Given the description of an element on the screen output the (x, y) to click on. 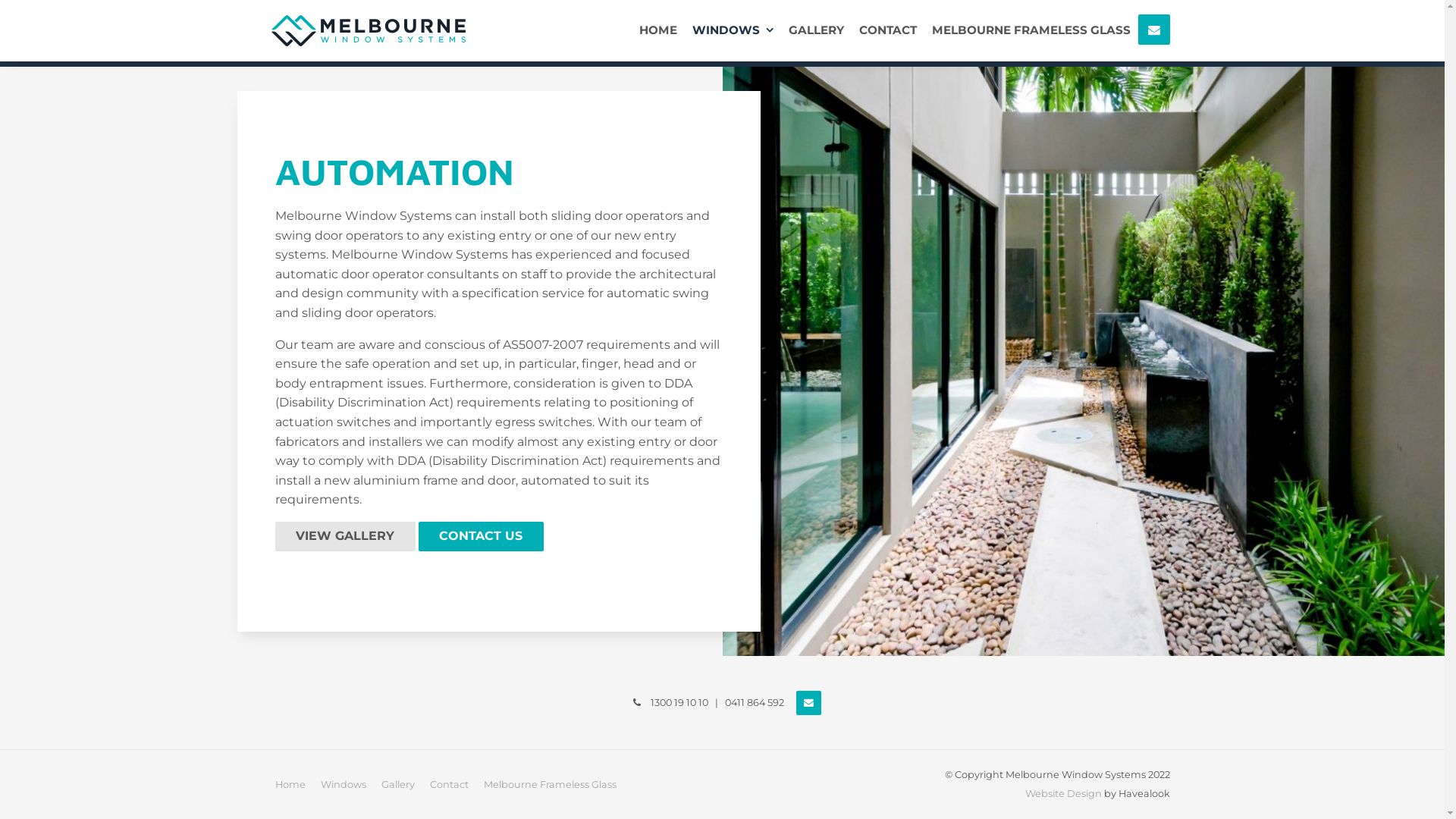
CONTACT Element type: text (887, 29)
MELBOURNE FRAMELESS GLASS Element type: text (1031, 29)
VIEW GALLERY Element type: text (344, 536)
WINDOWS Element type: text (732, 29)
Windows Element type: text (342, 784)
CONTACT US Element type: text (480, 536)
Gallery Element type: text (397, 784)
Home Element type: text (289, 784)
GALLERY Element type: text (816, 29)
Contact Element type: text (448, 784)
HOME Element type: text (657, 29)
Website Design Element type: text (1063, 793)
Melbourne Frameless Glass Element type: text (550, 784)
